Given the description of an element on the screen output the (x, y) to click on. 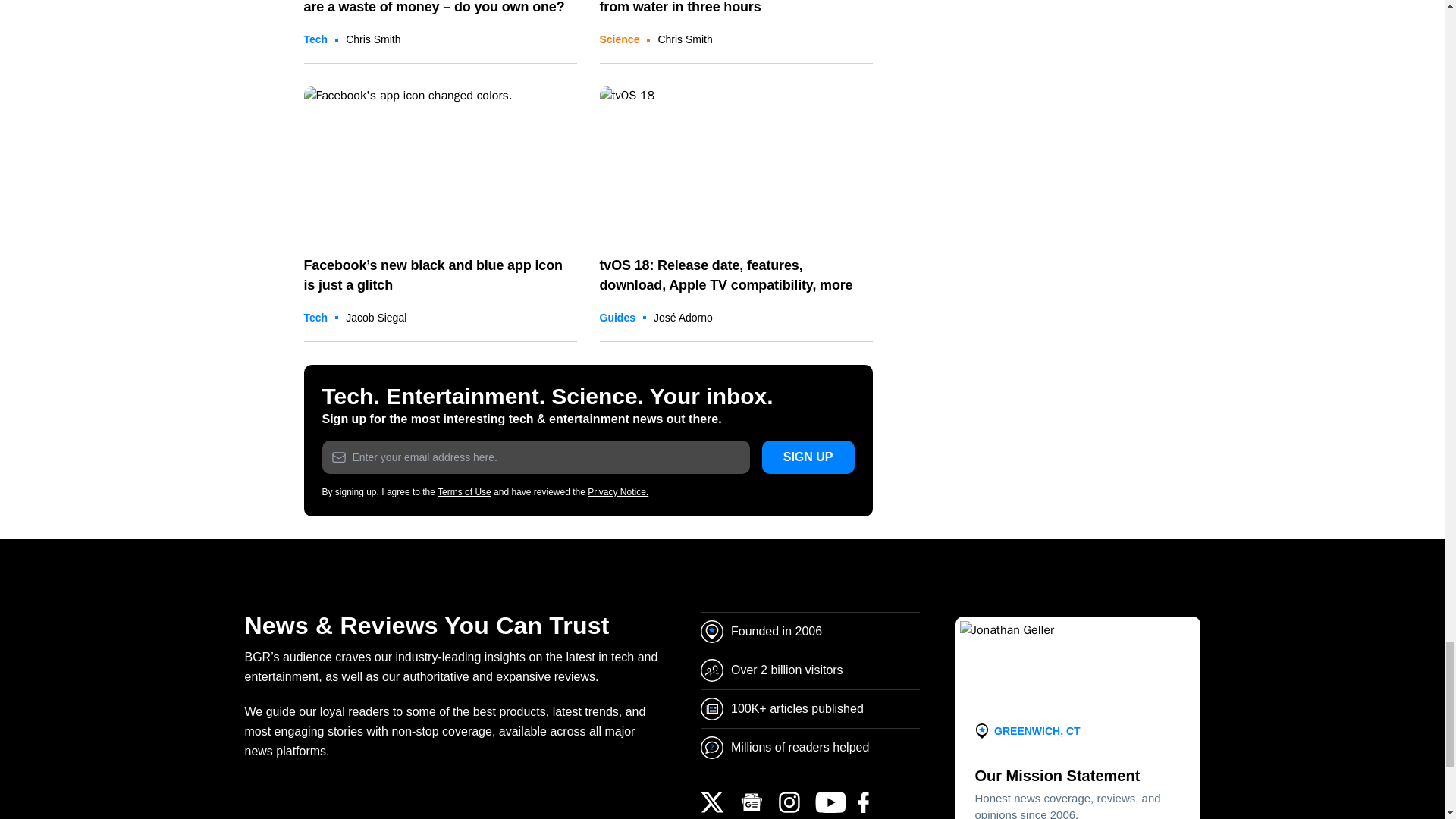
Posts by Jacob Siegal (376, 317)
Posts by Chris Smith (684, 39)
Posts by Chris Smith (373, 39)
Facebook icon (439, 163)
